Given the description of an element on the screen output the (x, y) to click on. 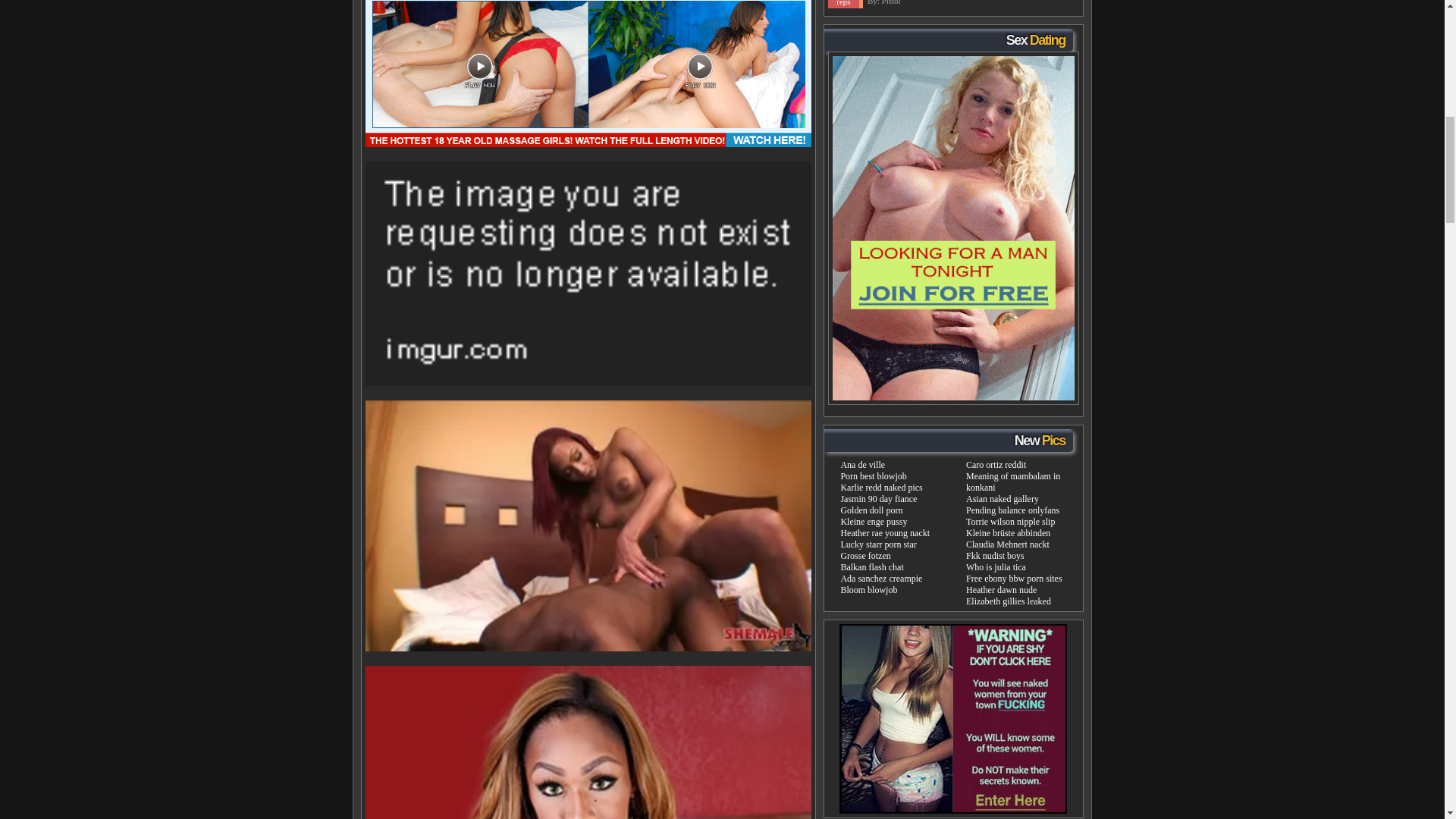
Kensington ts hailey Lansing, Michigan (587, 73)
Kensington ts hailey Lansing, Michigan (587, 273)
Kensington ts hailey Transgender porn (587, 742)
Kensington ts hailey Transgender porn (587, 525)
